Given the description of an element on the screen output the (x, y) to click on. 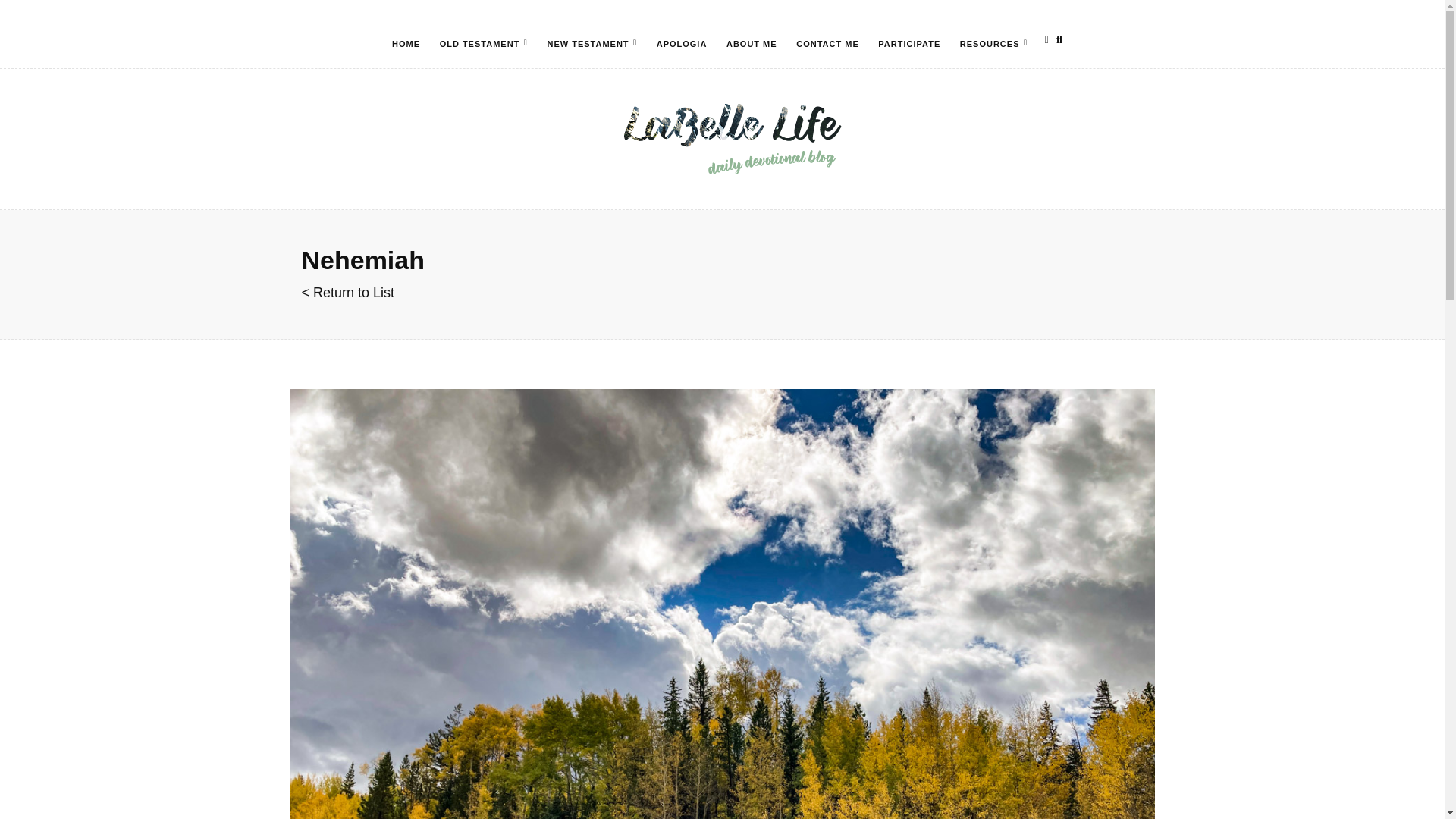
HOME (405, 43)
NEW TESTAMENT (591, 43)
OLD TESTAMENT (483, 43)
